Given the description of an element on the screen output the (x, y) to click on. 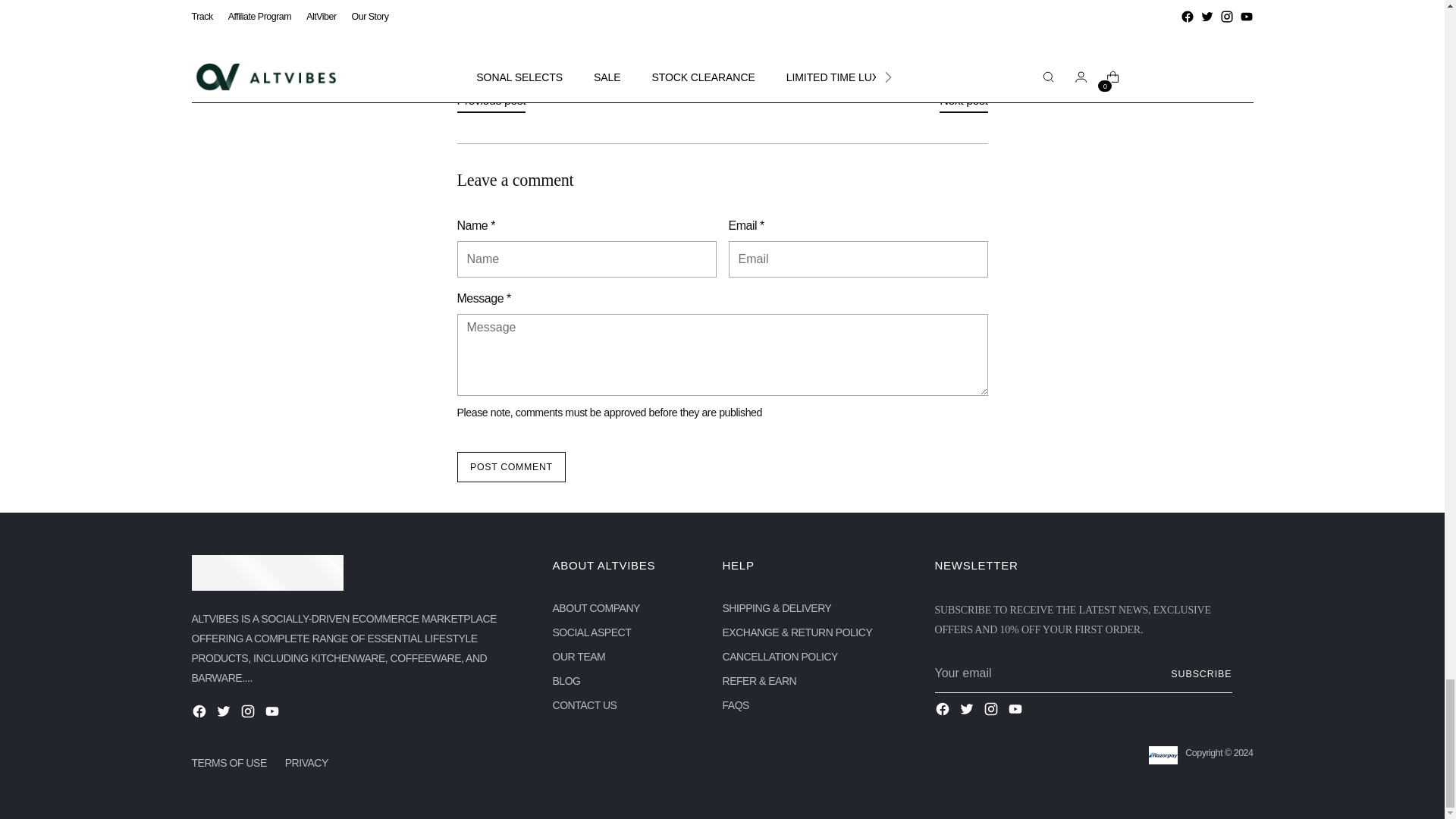
AltVibes on YouTube (272, 713)
AltVibes on Twitter (967, 711)
AltVibes on Facebook (943, 711)
AltVibes on Twitter (223, 713)
